Given the description of an element on the screen output the (x, y) to click on. 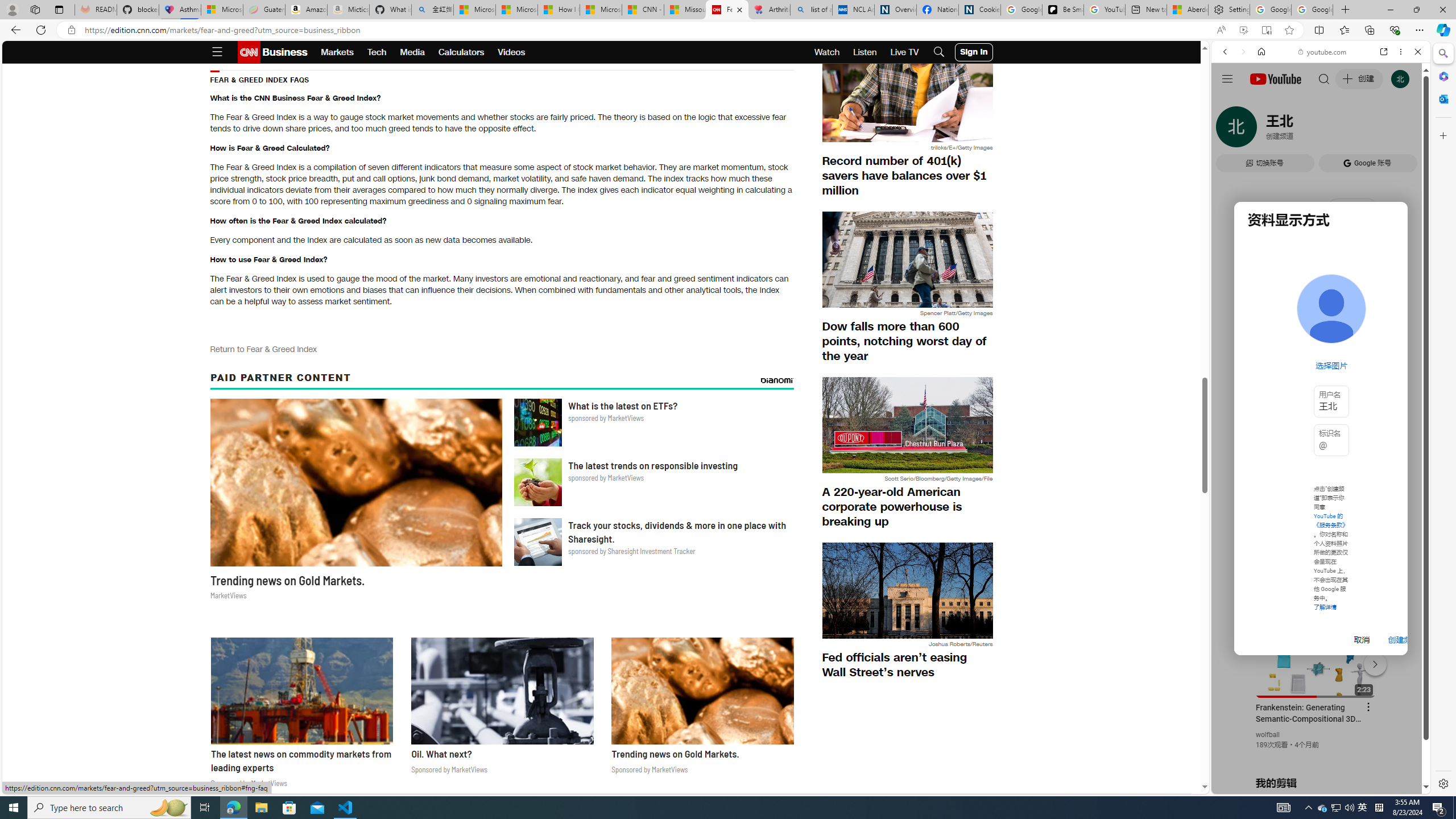
Click to scroll right (1407, 456)
Side bar (1443, 418)
Trailer #2 [HD] (1320, 336)
WEB   (1230, 130)
This site scope (1259, 102)
Microsoft 365 (1442, 76)
Search Icon (938, 52)
